Given the description of an element on the screen output the (x, y) to click on. 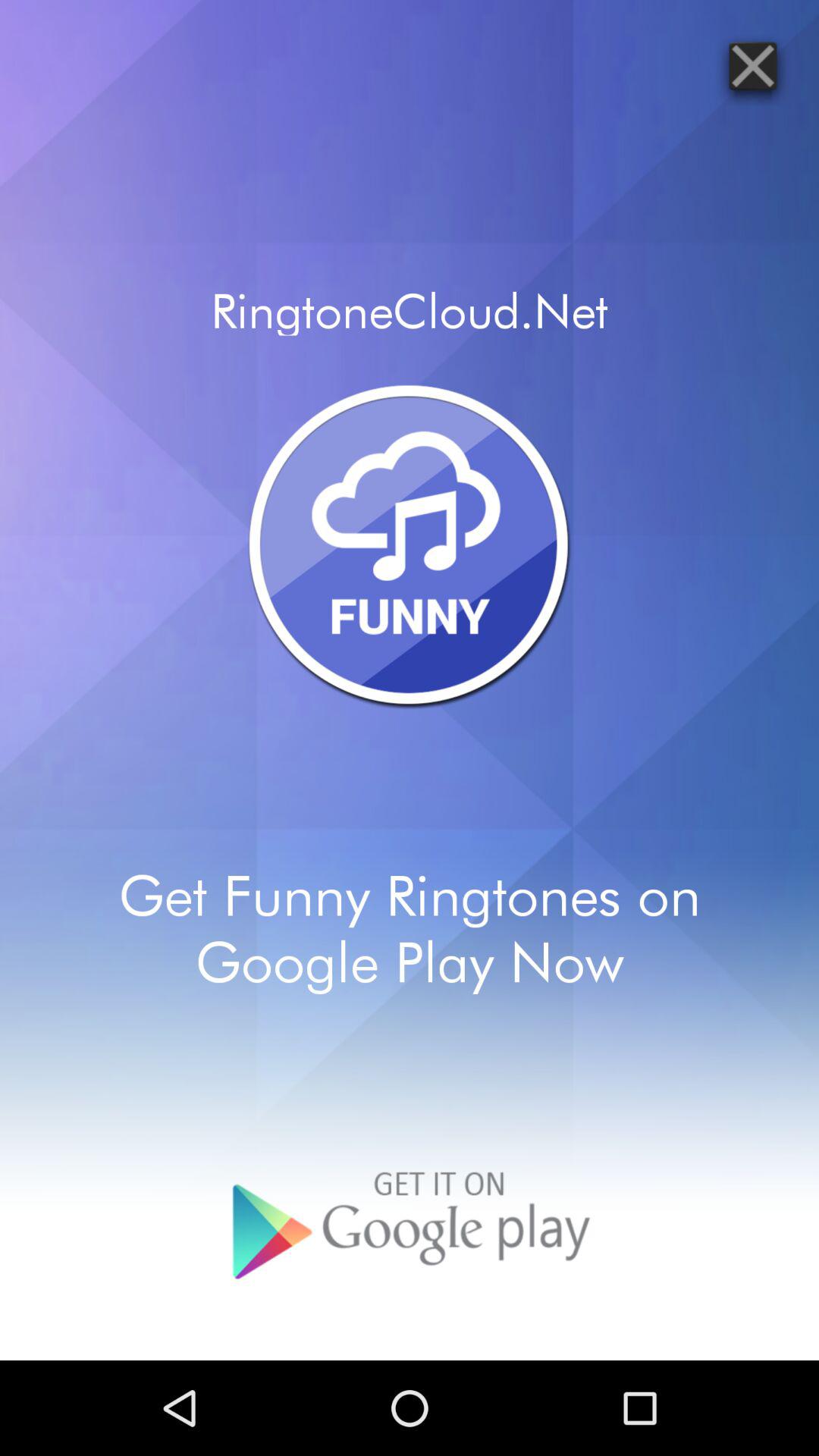
choose item above the ringtonecloud.net item (752, 65)
